Given the description of an element on the screen output the (x, y) to click on. 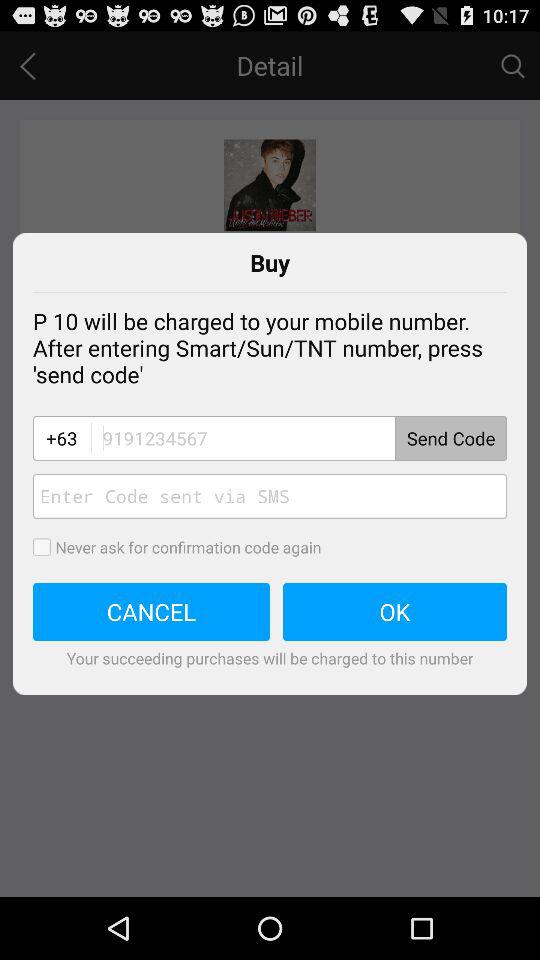
enter phone number (298, 438)
